Given the description of an element on the screen output the (x, y) to click on. 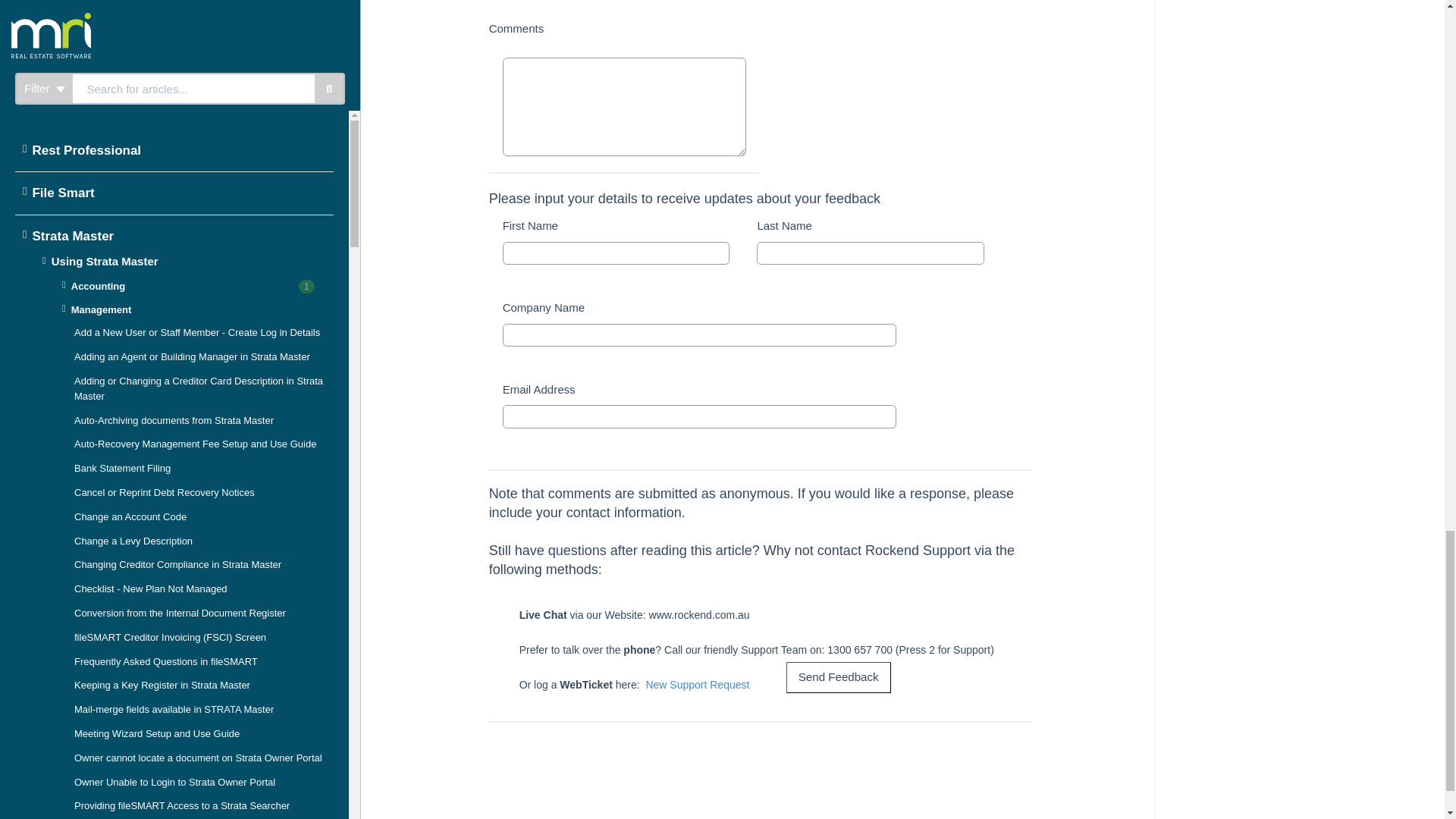
First Name (616, 252)
Send Feedback (838, 676)
Company Name (699, 334)
Last Name (870, 252)
Email Address (699, 415)
